Given the description of an element on the screen output the (x, y) to click on. 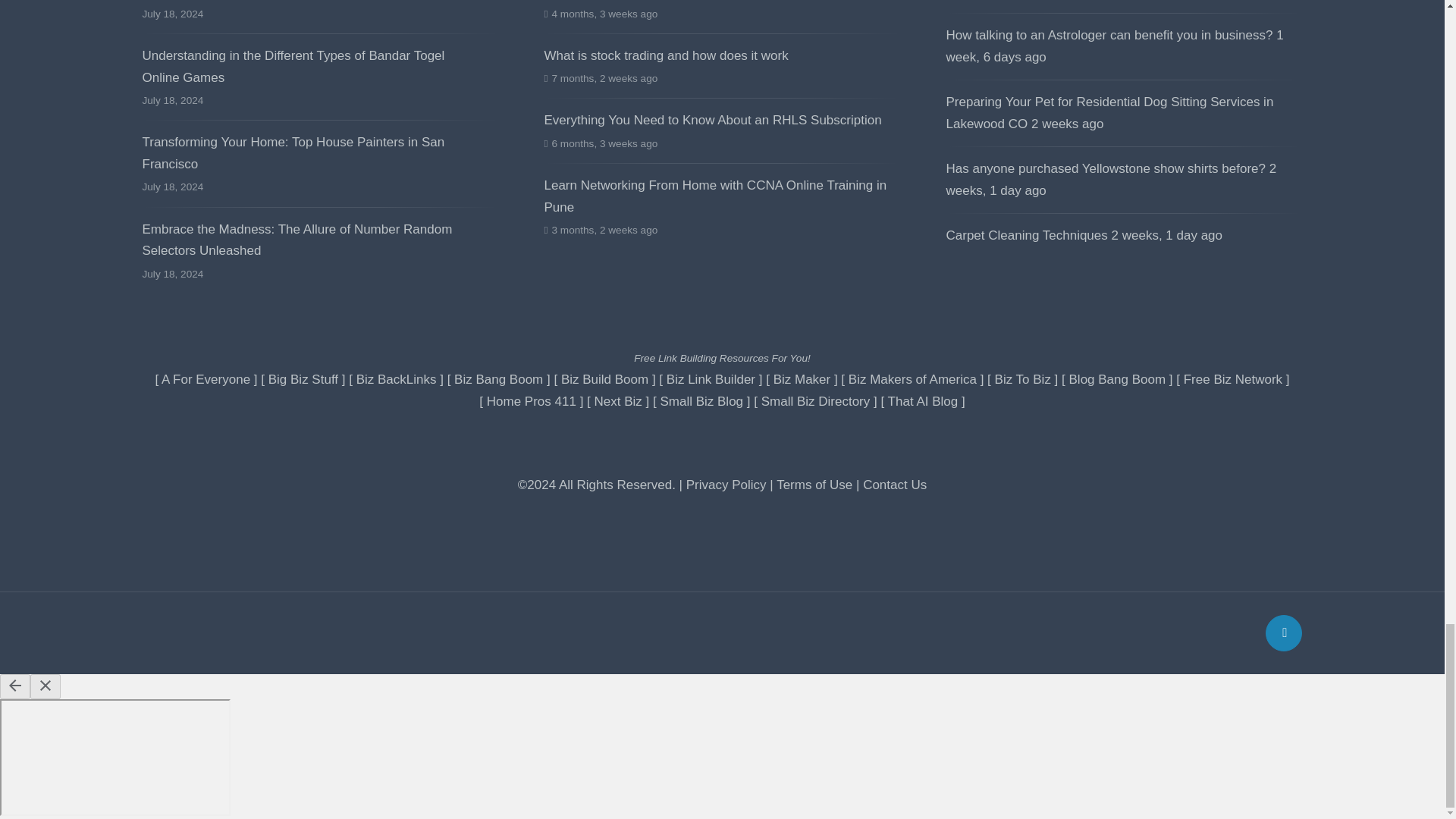
Biz BackLinks - FREE Link building. (396, 379)
Big Biz Stuff - FREE Link building. (302, 379)
A For Everyone - FREE Link building. (205, 379)
Biz Bang Boom - FREE Link building. (498, 379)
Nice Post (1110, 113)
